Given the description of an element on the screen output the (x, y) to click on. 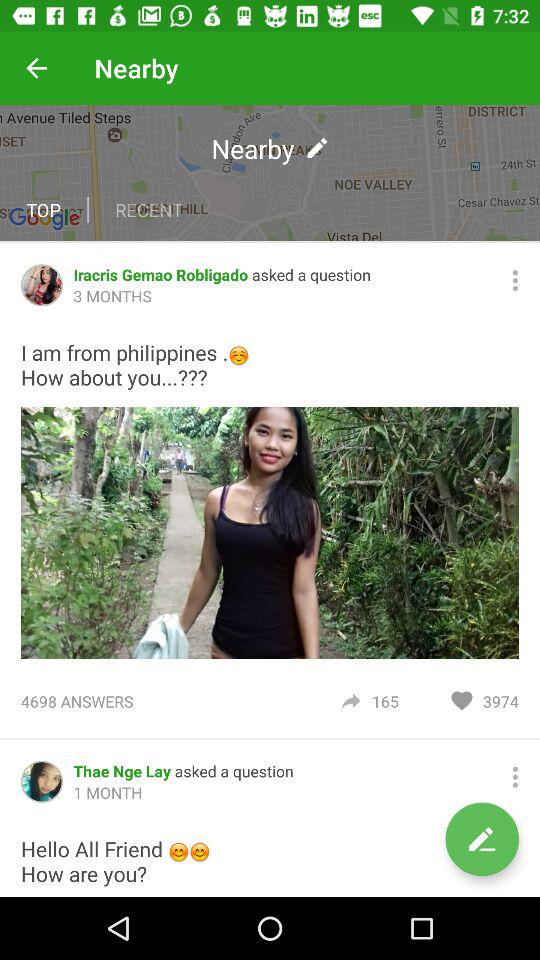
more options (515, 280)
